Given the description of an element on the screen output the (x, y) to click on. 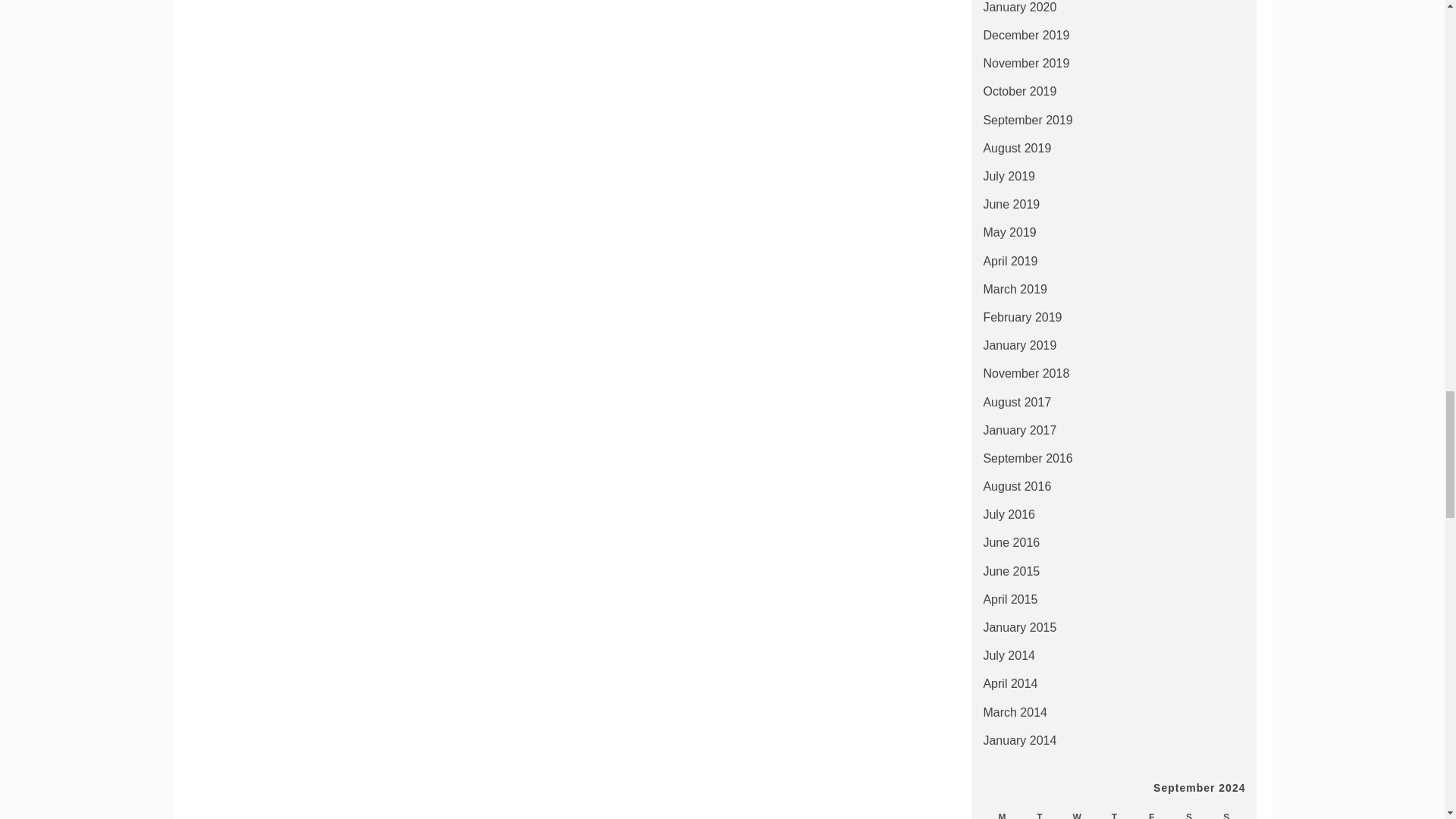
Wednesday (1077, 811)
Tuesday (1039, 811)
Monday (1002, 811)
Friday (1151, 811)
Thursday (1114, 811)
